Given the description of an element on the screen output the (x, y) to click on. 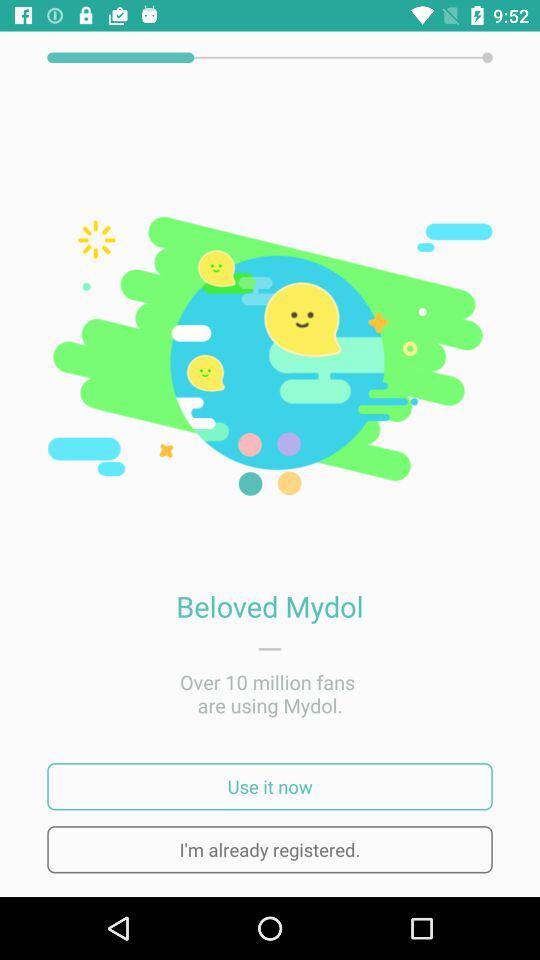
open item below the use it now item (269, 849)
